Given the description of an element on the screen output the (x, y) to click on. 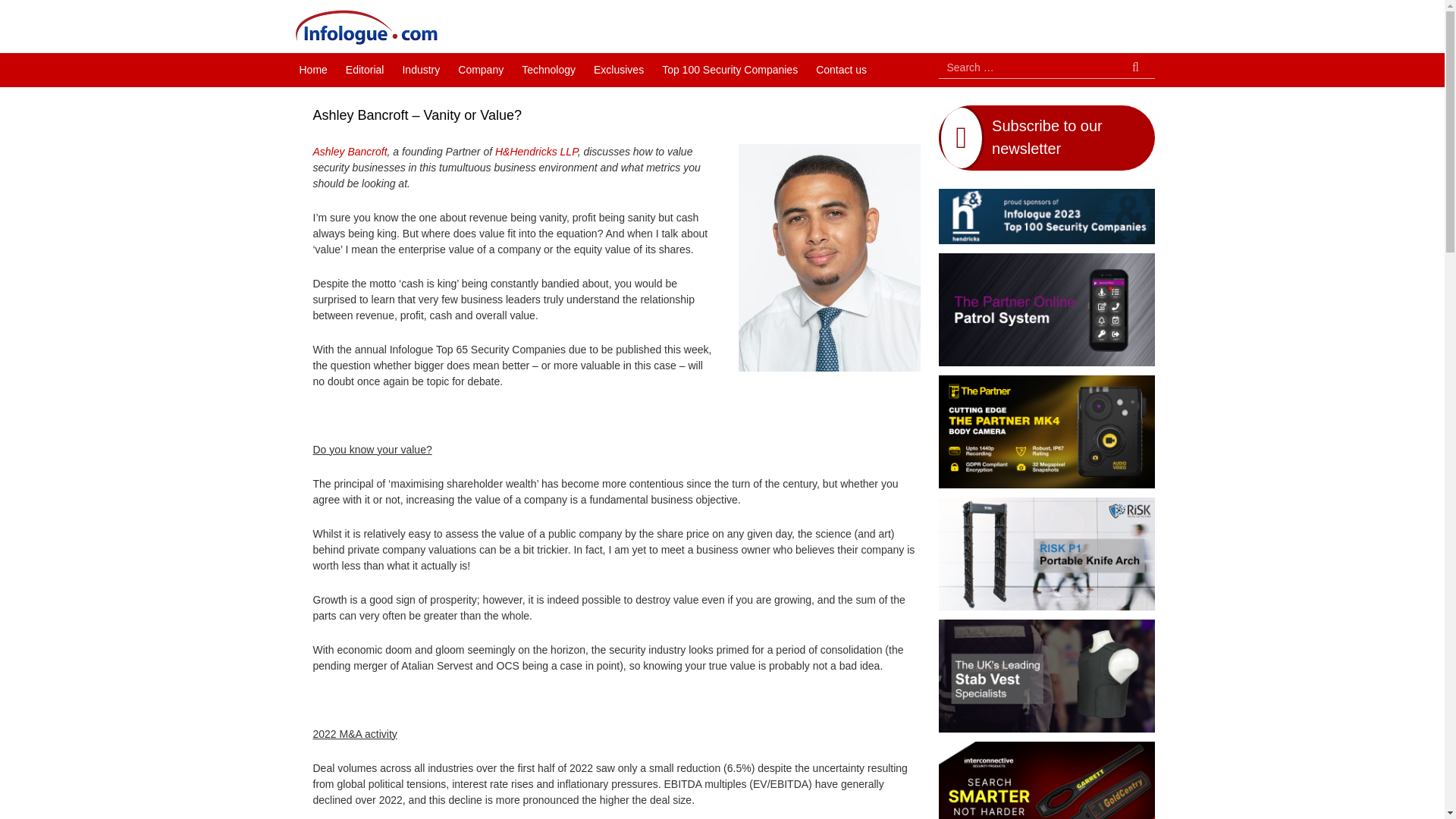
Editorial (364, 69)
Company (480, 69)
Home (312, 69)
Ashley Bancroft (350, 151)
Technology (548, 69)
Contact us (841, 69)
Top 100 Security Companies (729, 69)
Industry (420, 69)
Exclusives (618, 69)
